Given the description of an element on the screen output the (x, y) to click on. 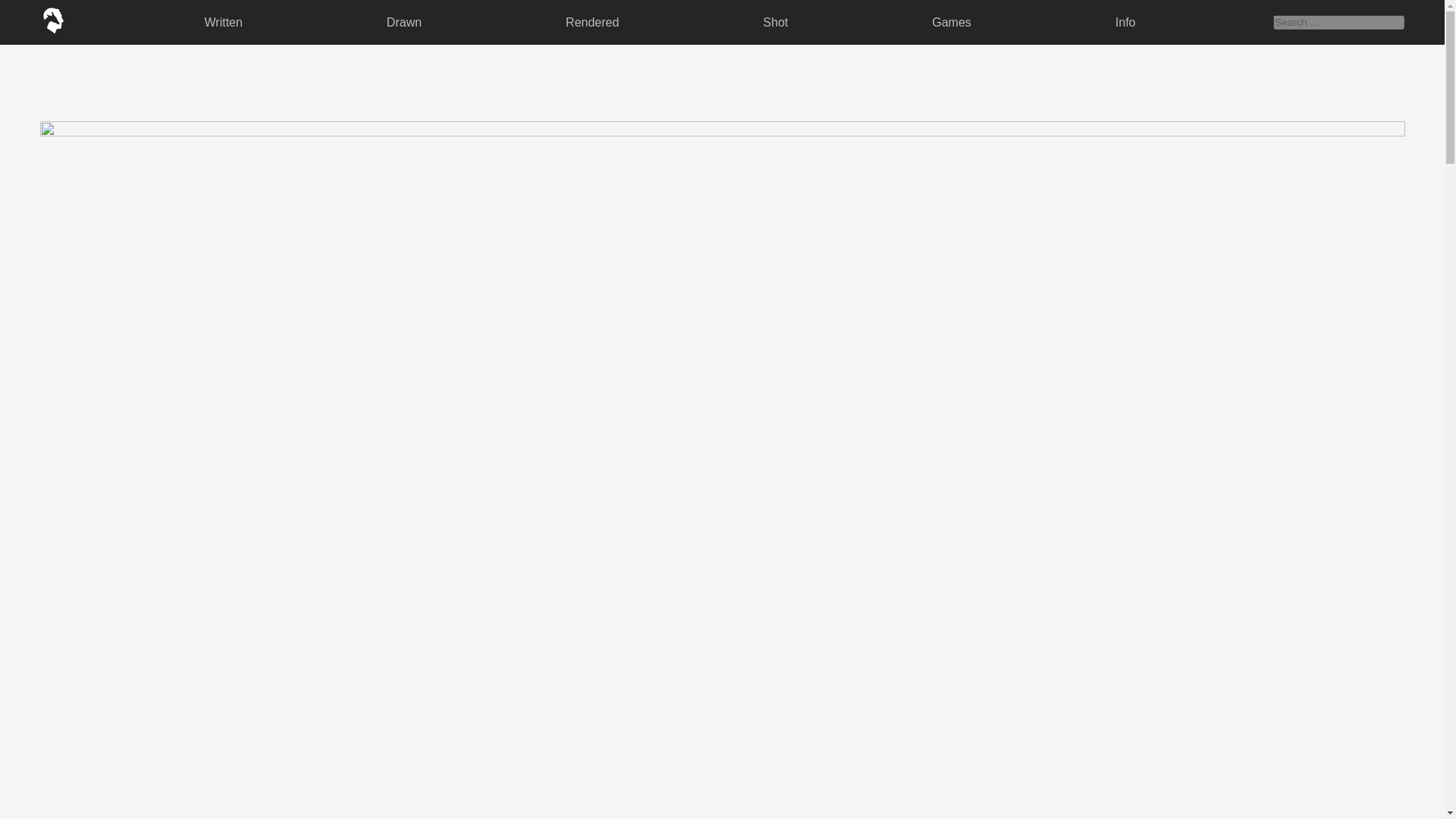
Drawn (404, 21)
Written (222, 21)
Shot (775, 21)
Games (951, 21)
Info (1125, 21)
Rendered (591, 21)
